Given the description of an element on the screen output the (x, y) to click on. 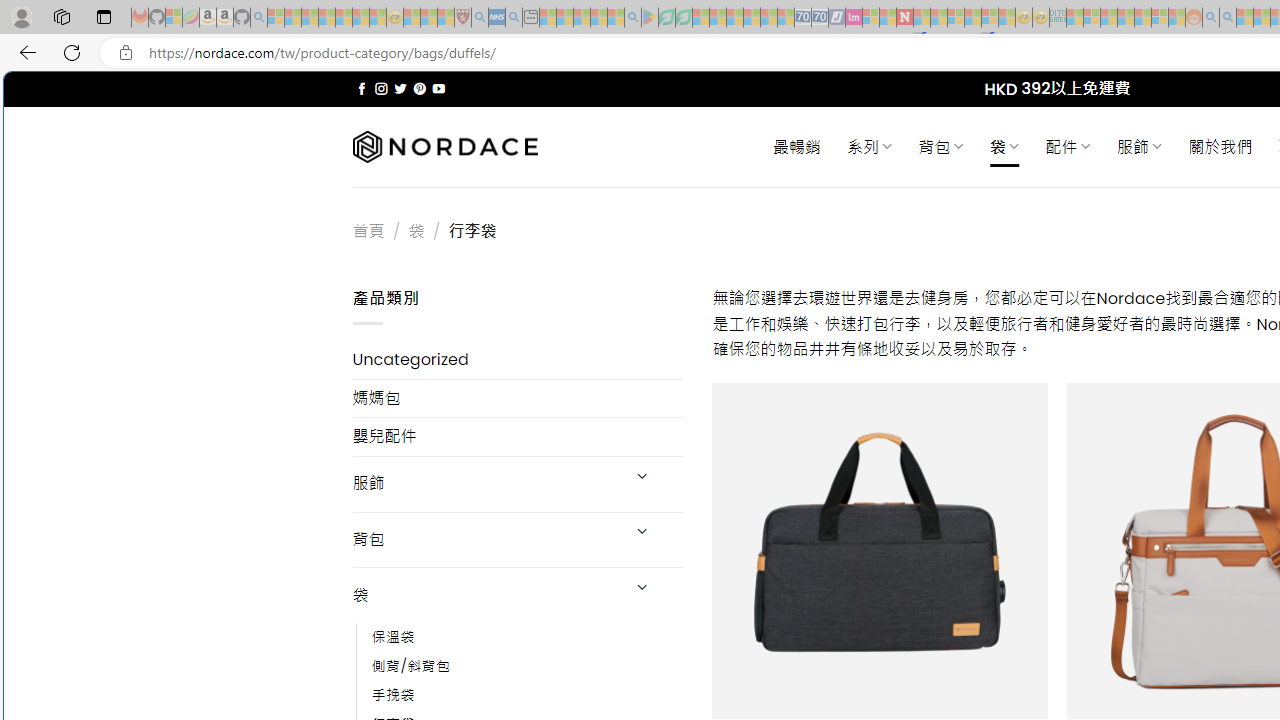
Follow on YouTube (438, 88)
